Given the description of an element on the screen output the (x, y) to click on. 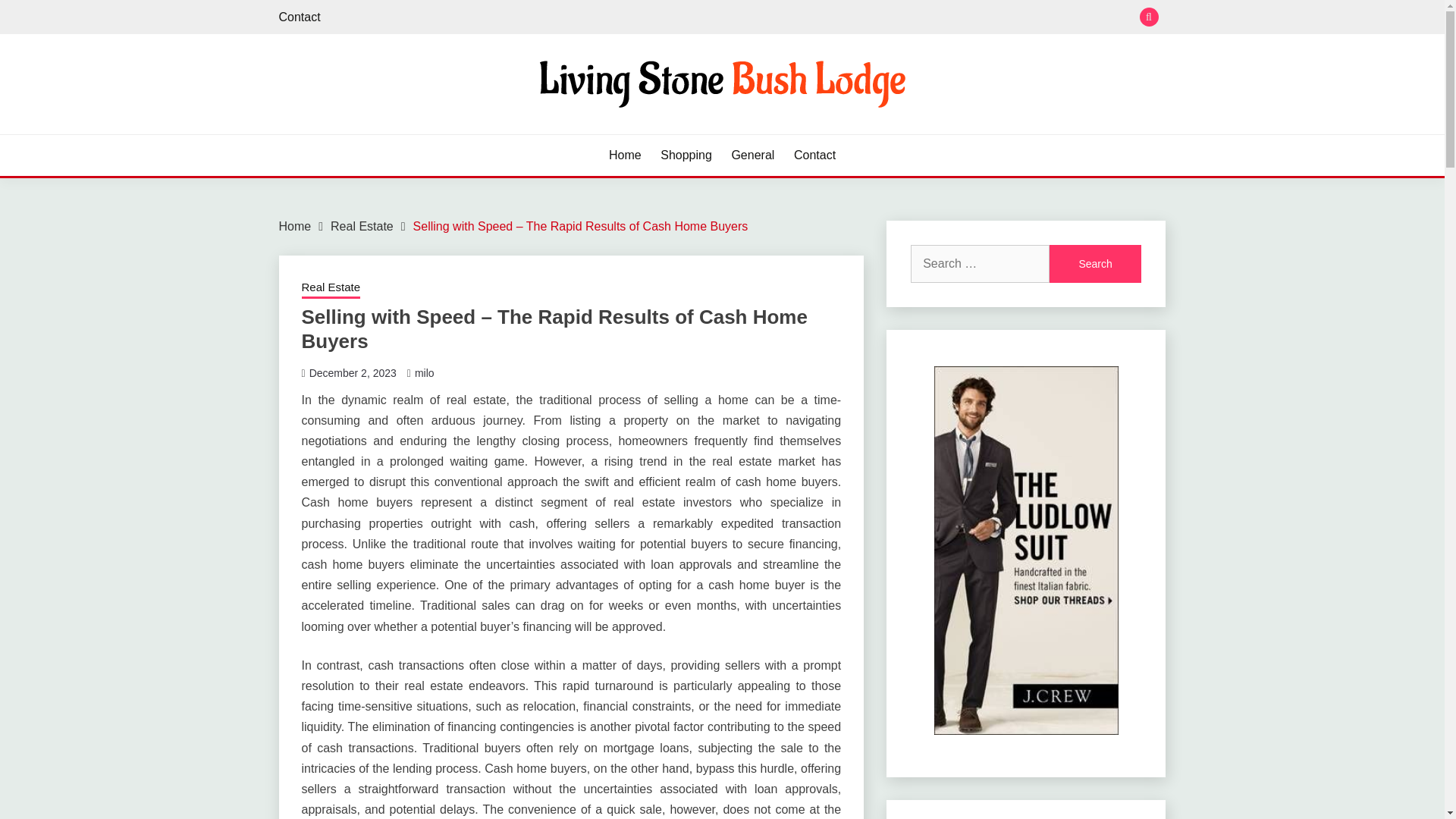
Home (625, 155)
Search (1095, 263)
Real Estate (331, 288)
Shopping (686, 155)
Search (832, 18)
General (752, 155)
LIVING STONE BUSH LODGE (474, 132)
Real Estate (361, 226)
Search (1095, 263)
Contact (814, 155)
